Given the description of an element on the screen output the (x, y) to click on. 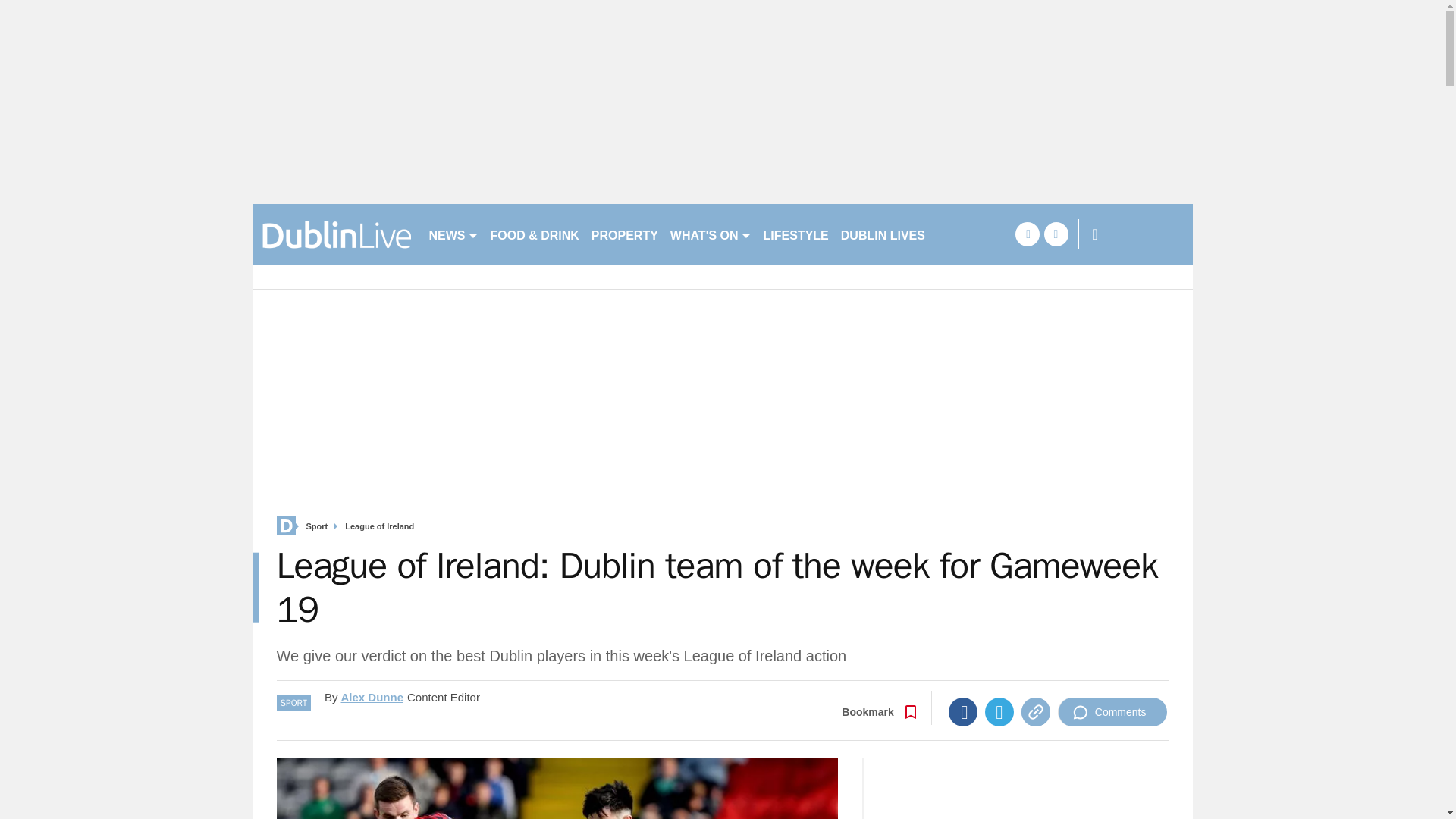
SOCCER (962, 233)
WHAT'S ON (710, 233)
twitter (1055, 233)
DUBLIN LIVES (882, 233)
dublinlive (332, 233)
facebook (1026, 233)
PROPERTY (624, 233)
NEWS (453, 233)
Comments (1112, 711)
LIFESTYLE (795, 233)
Twitter (999, 711)
Facebook (962, 711)
